Given the description of an element on the screen output the (x, y) to click on. 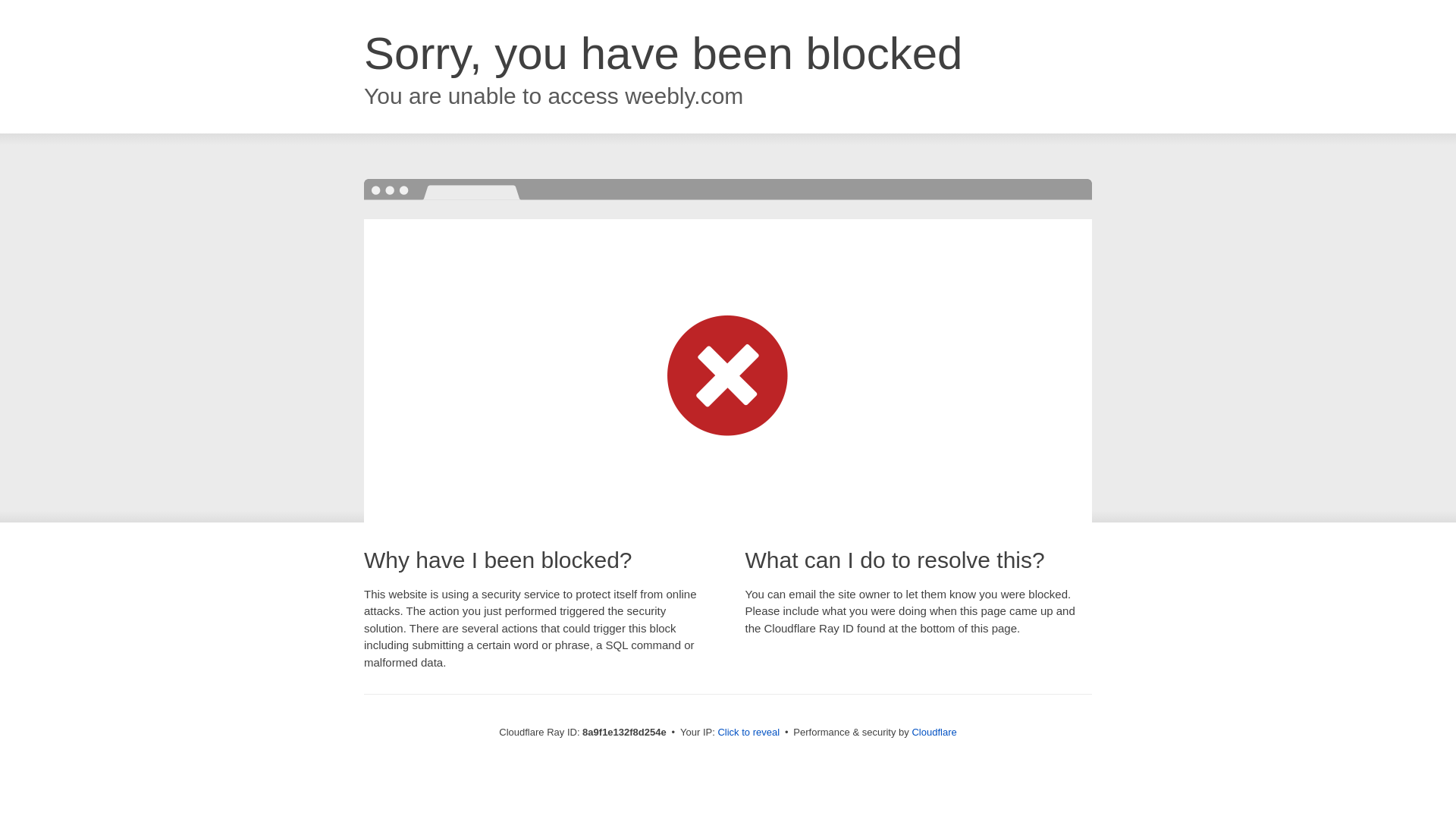
Cloudflare (933, 731)
Click to reveal (747, 732)
